Given the description of an element on the screen output the (x, y) to click on. 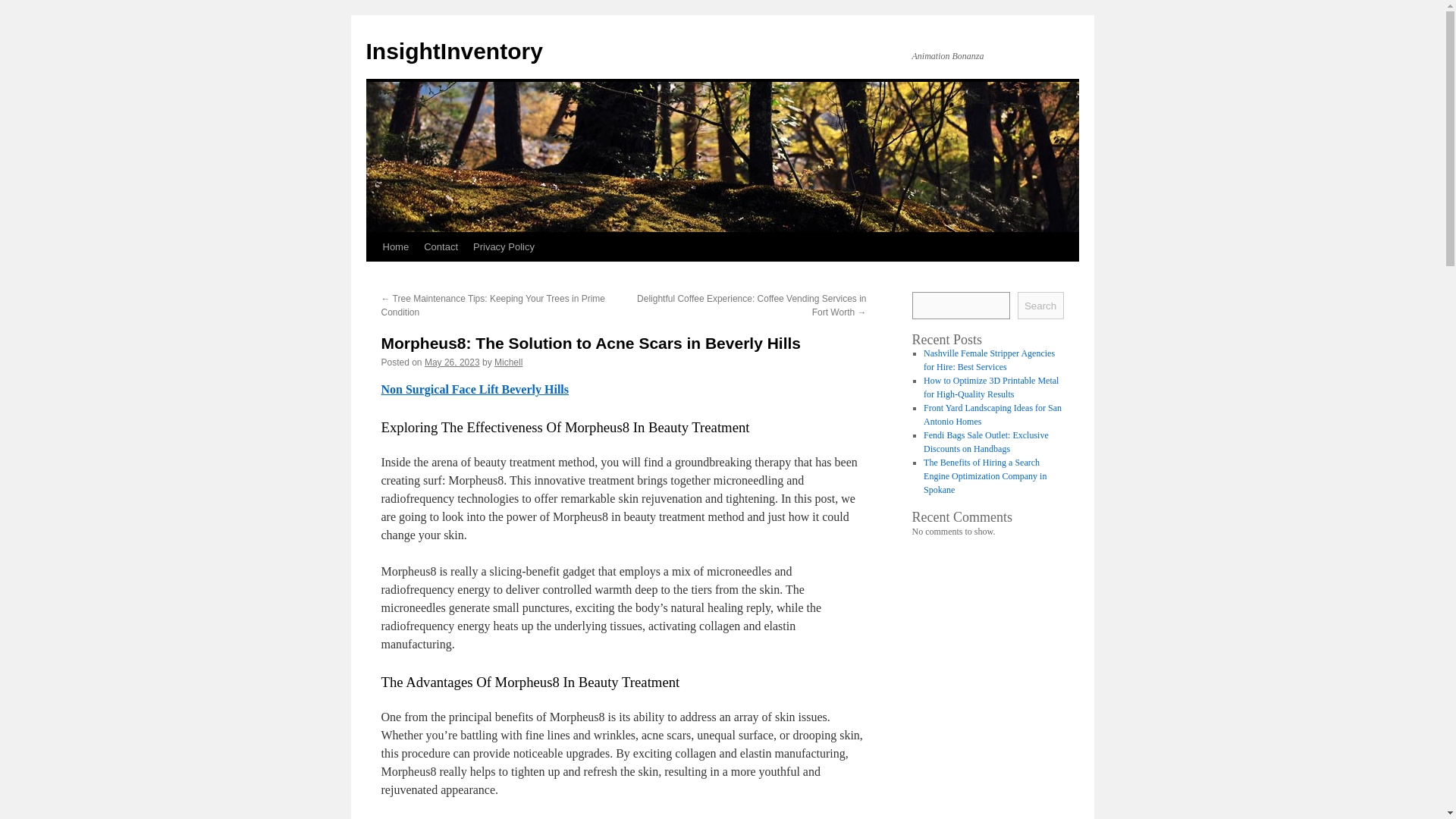
How to Optimize 3D Printable Metal for High-Quality Results (990, 387)
View all posts by Michell (508, 362)
Contact (440, 246)
Non Surgical Face Lift Beverly Hills (474, 389)
May 26, 2023 (452, 362)
Fendi Bags Sale Outlet: Exclusive Discounts on Handbags (985, 441)
Home (395, 246)
Nashville Female Stripper Agencies for Hire: Best Services (988, 360)
InsightInventory (453, 50)
Privacy Policy (503, 246)
1:22 am (452, 362)
Search (1040, 305)
Front Yard Landscaping Ideas for San Antonio Homes (992, 414)
Michell (508, 362)
